Given the description of an element on the screen output the (x, y) to click on. 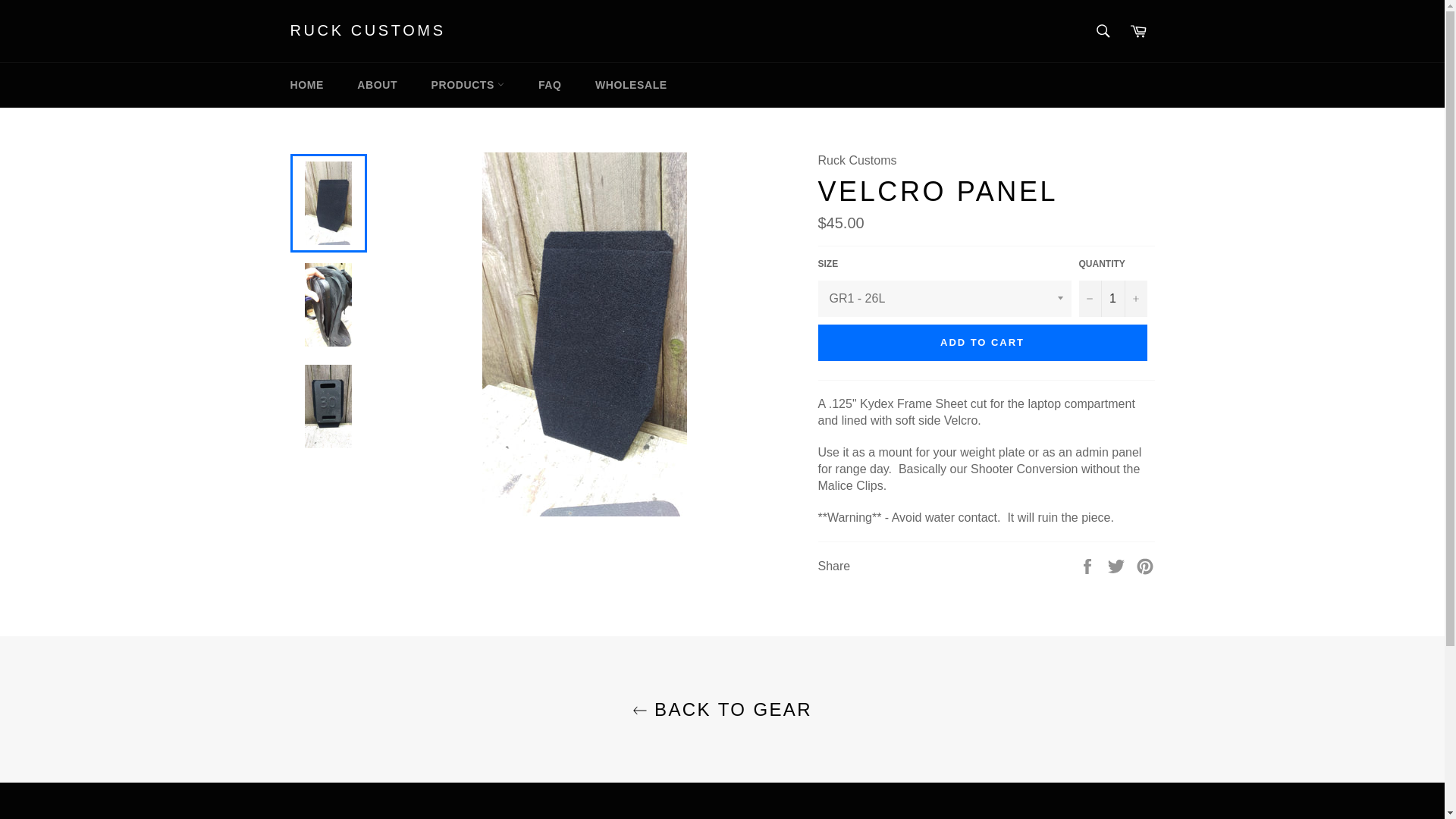
ADD TO CART (981, 342)
Share on Facebook (1088, 564)
Cart (1138, 30)
HOME (306, 85)
ABOUT (377, 85)
Search (1103, 30)
Share on Facebook (1088, 564)
PRODUCTS (467, 85)
Tweet on Twitter (1117, 564)
RUCK CUSTOMS (367, 30)
